Given the description of an element on the screen output the (x, y) to click on. 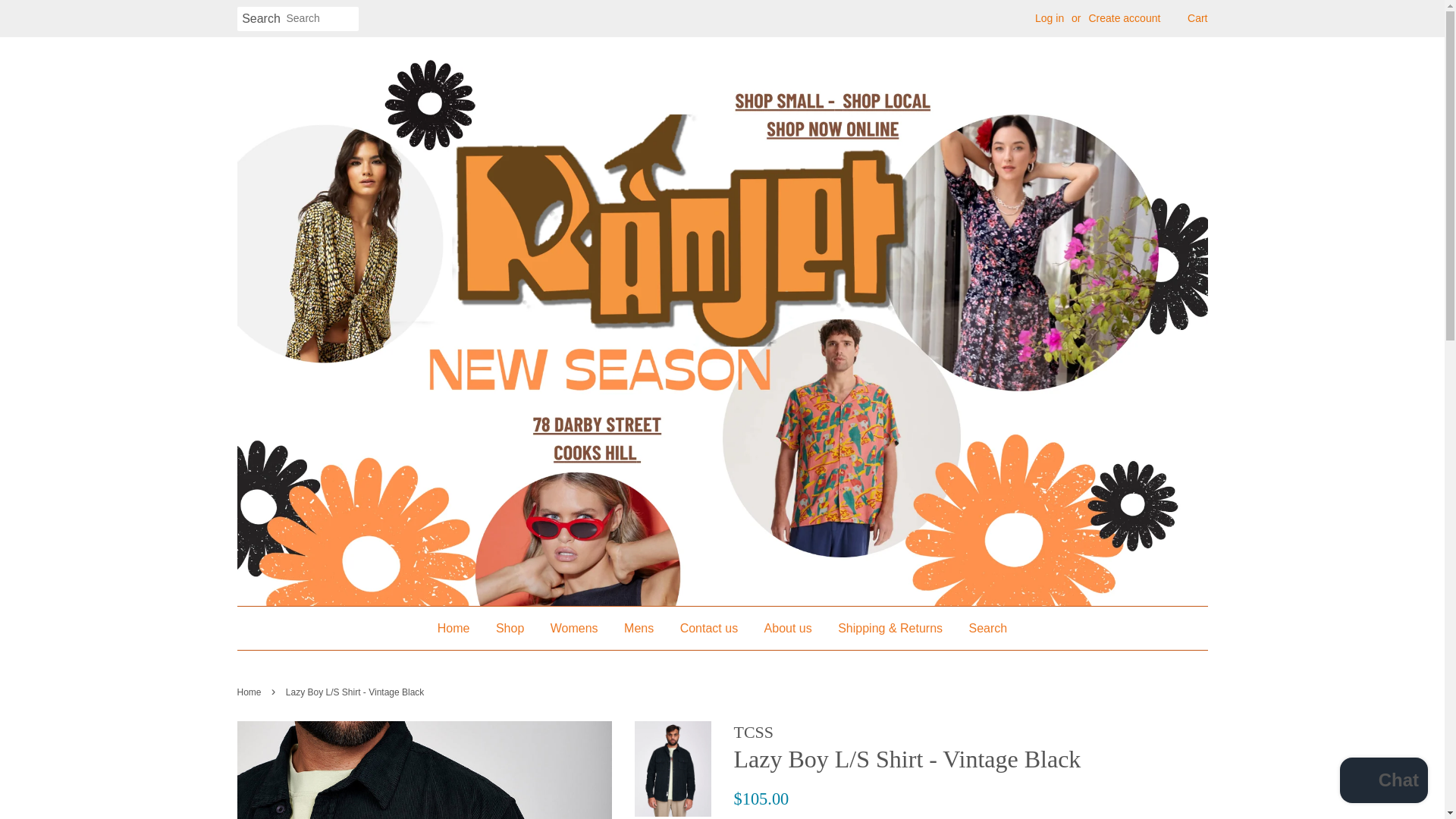
Shopify online store chat (1383, 781)
Cart (1197, 18)
Log in (1049, 18)
Search (260, 18)
Back to the frontpage (249, 692)
Create account (1123, 18)
